Given the description of an element on the screen output the (x, y) to click on. 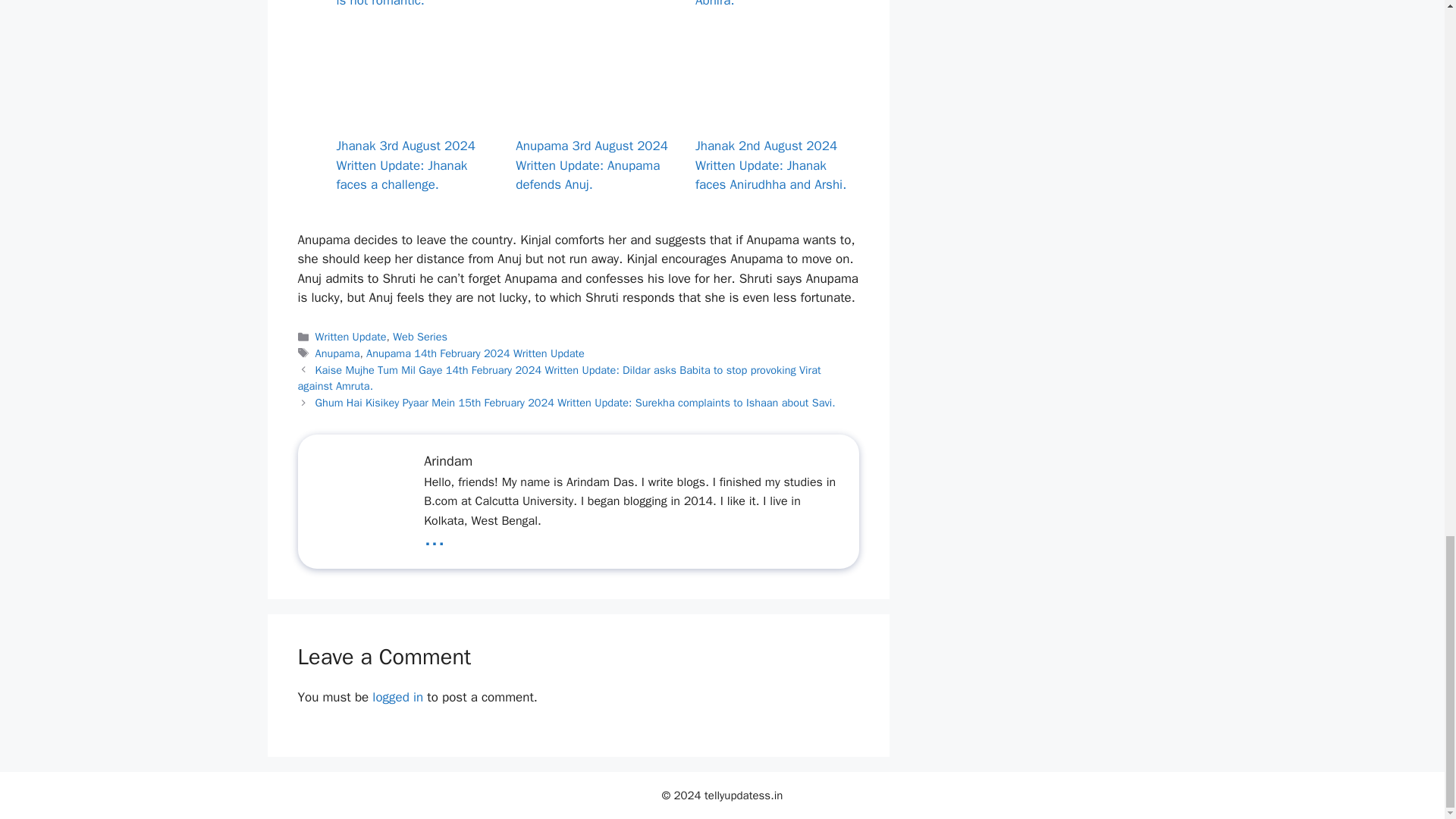
... (434, 538)
logged in (397, 697)
Web Series (419, 336)
Anupama (337, 353)
Written Update (351, 336)
